Given the description of an element on the screen output the (x, y) to click on. 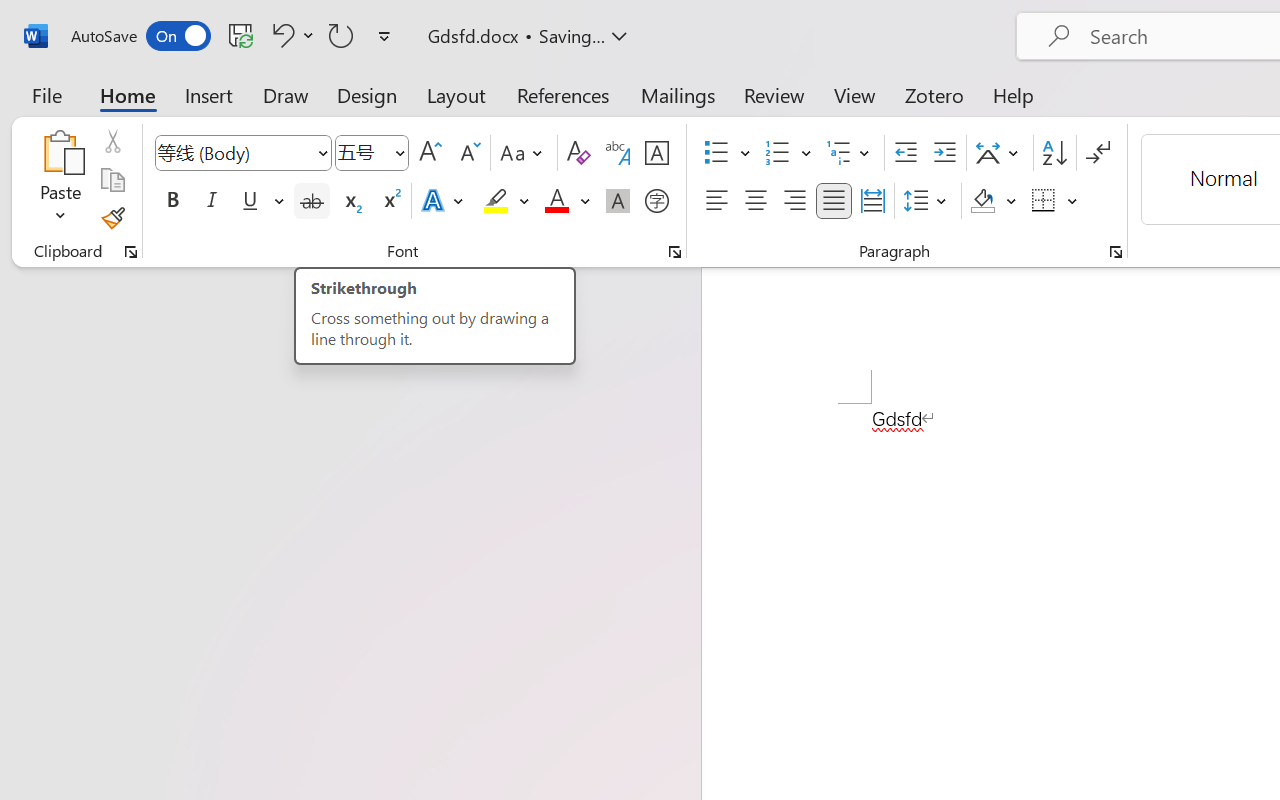
Character Border (656, 153)
